Given the description of an element on the screen output the (x, y) to click on. 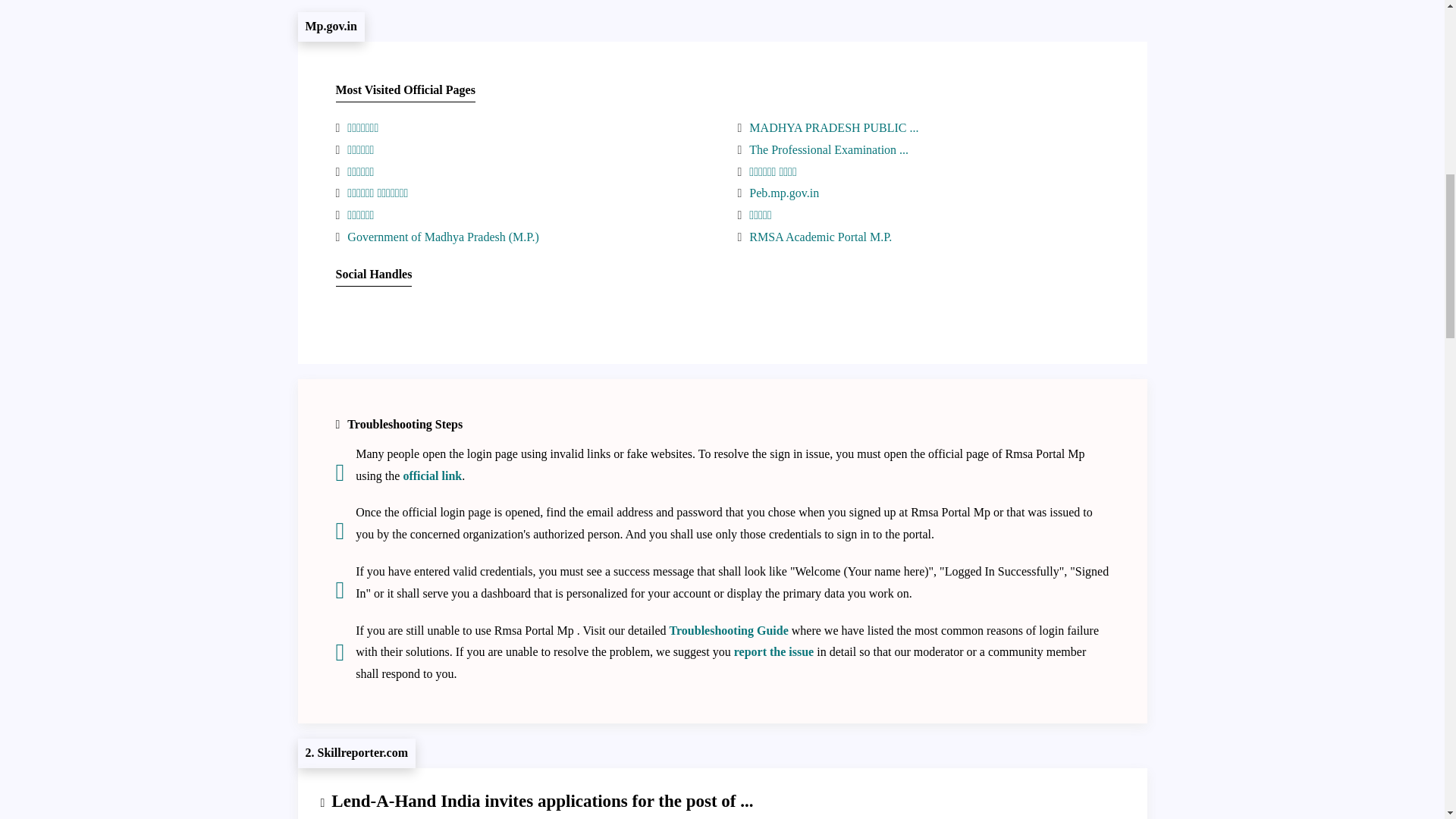
Lend-A-Hand India invites applications for the post of ... (541, 800)
official link (432, 475)
Peb.mp.gov.in (783, 192)
MADHYA PRADESH PUBLIC ... (833, 127)
RMSA Academic Portal M.P. (820, 236)
The Professional Examination ... (828, 149)
Troubleshooting Guide (729, 630)
report the issue (773, 651)
